Given the description of an element on the screen output the (x, y) to click on. 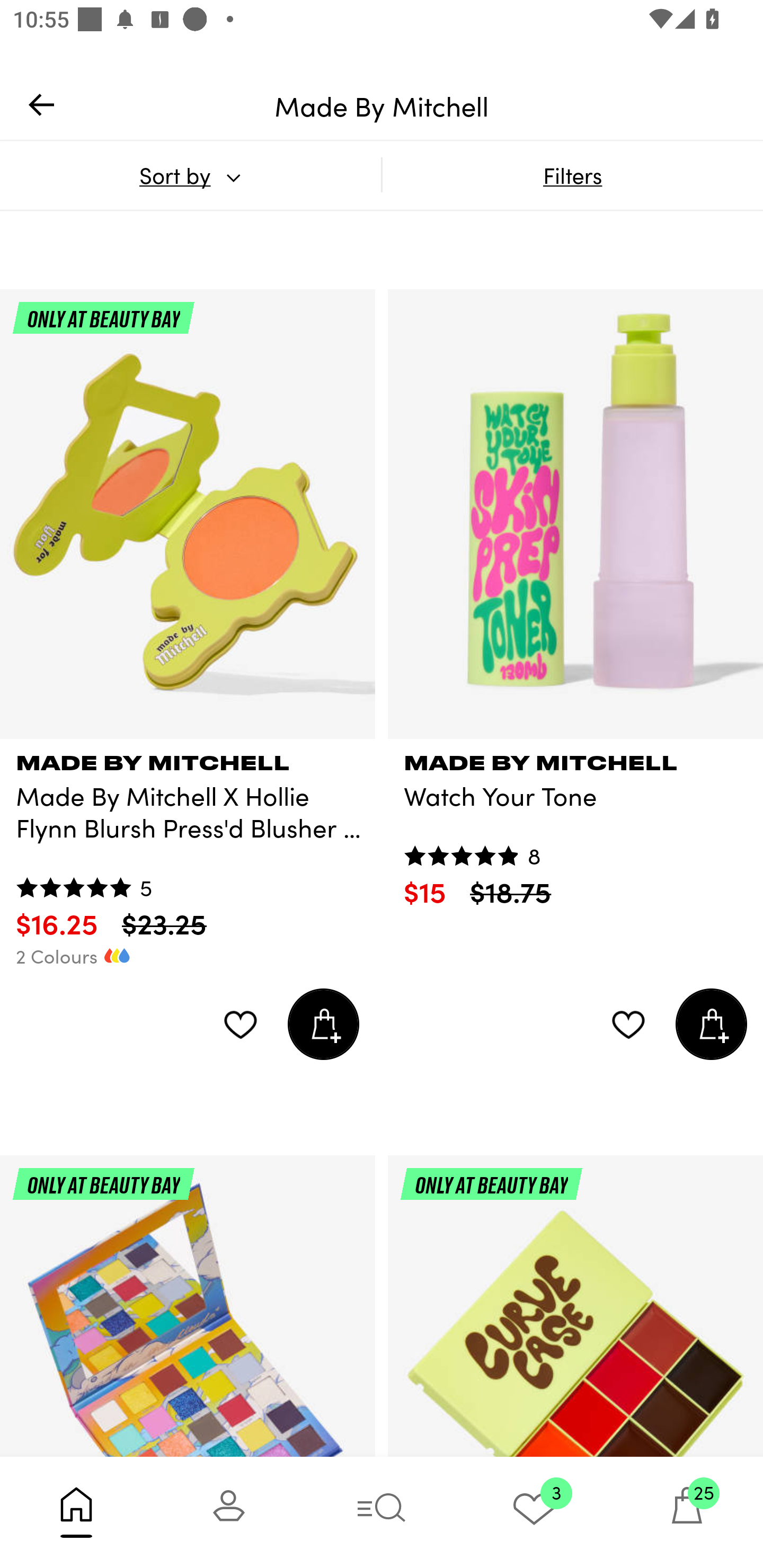
Sort by (190, 174)
Filters (572, 174)
MADE BY MITCHELL Watch Your Tone 8 $15 $18.75 (575, 824)
3 (533, 1512)
25 (686, 1512)
